Given the description of an element on the screen output the (x, y) to click on. 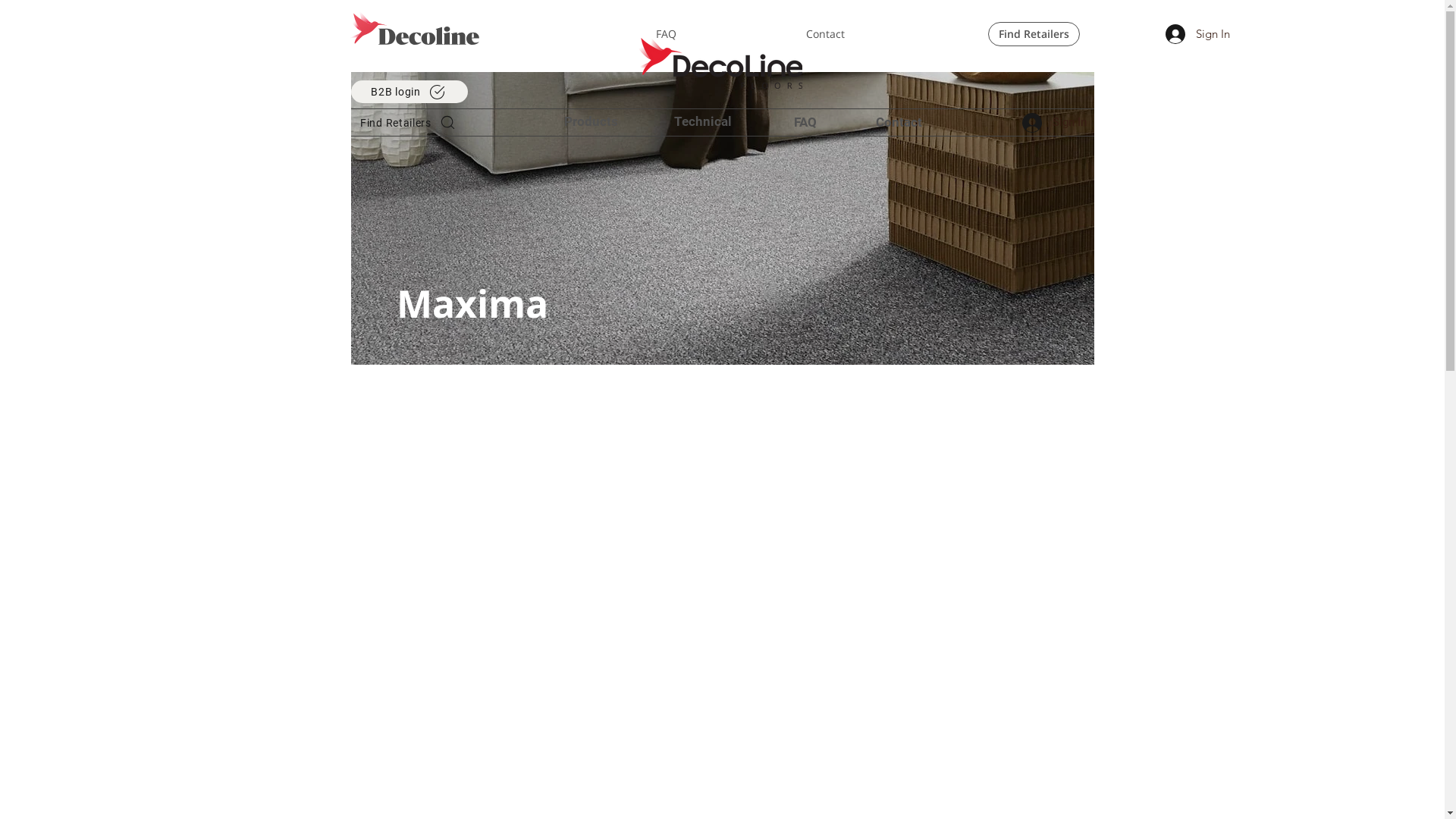
Sign In Element type: text (1195, 33)
Find Retailers Element type: text (408, 121)
Products Element type: text (590, 121)
Sign In Element type: text (1052, 121)
Contact Element type: text (876, 33)
B2B login Element type: text (408, 91)
FAQ Element type: text (718, 33)
Find Retailers Element type: text (1033, 33)
FAQ Element type: text (826, 121)
Technical Element type: text (702, 121)
Contact Element type: text (919, 121)
